Given the description of an element on the screen output the (x, y) to click on. 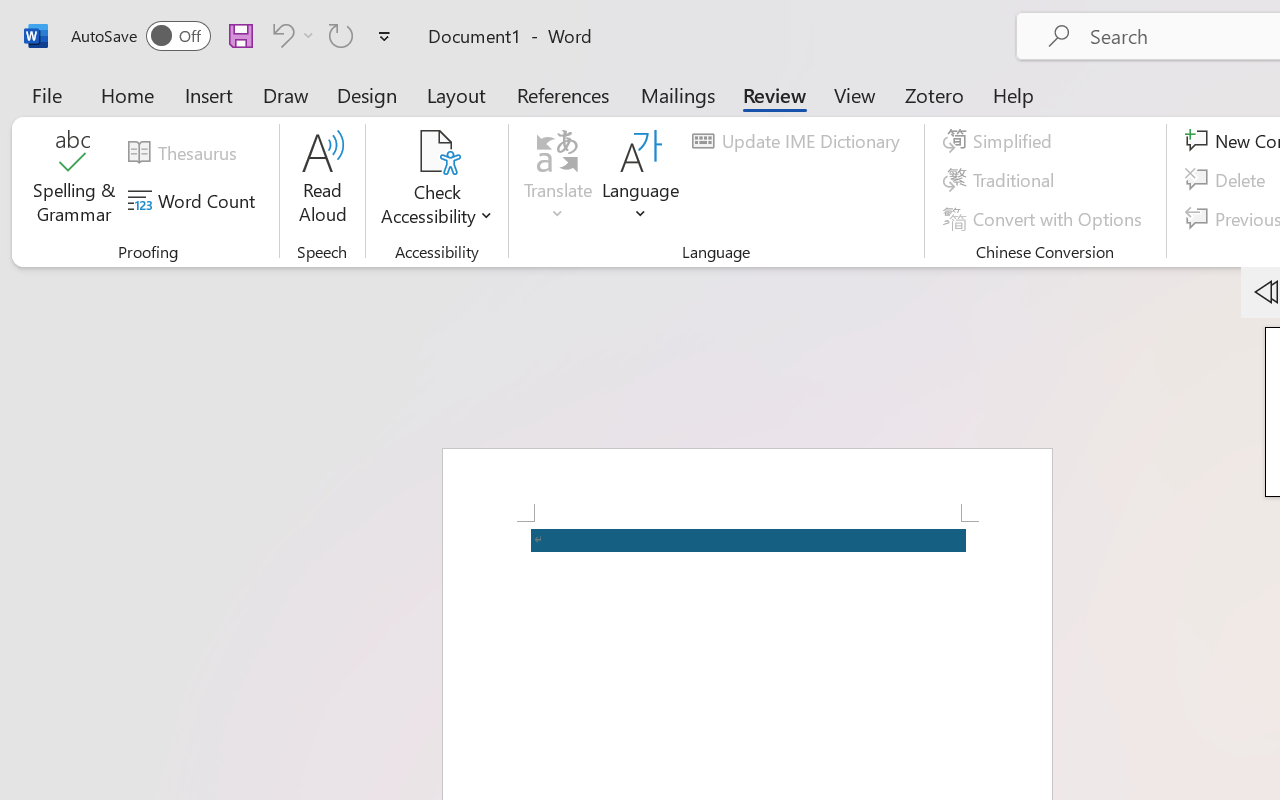
Word Count (194, 201)
Spelling & Grammar (74, 180)
Check Accessibility (436, 151)
Traditional (1001, 179)
